Given the description of an element on the screen output the (x, y) to click on. 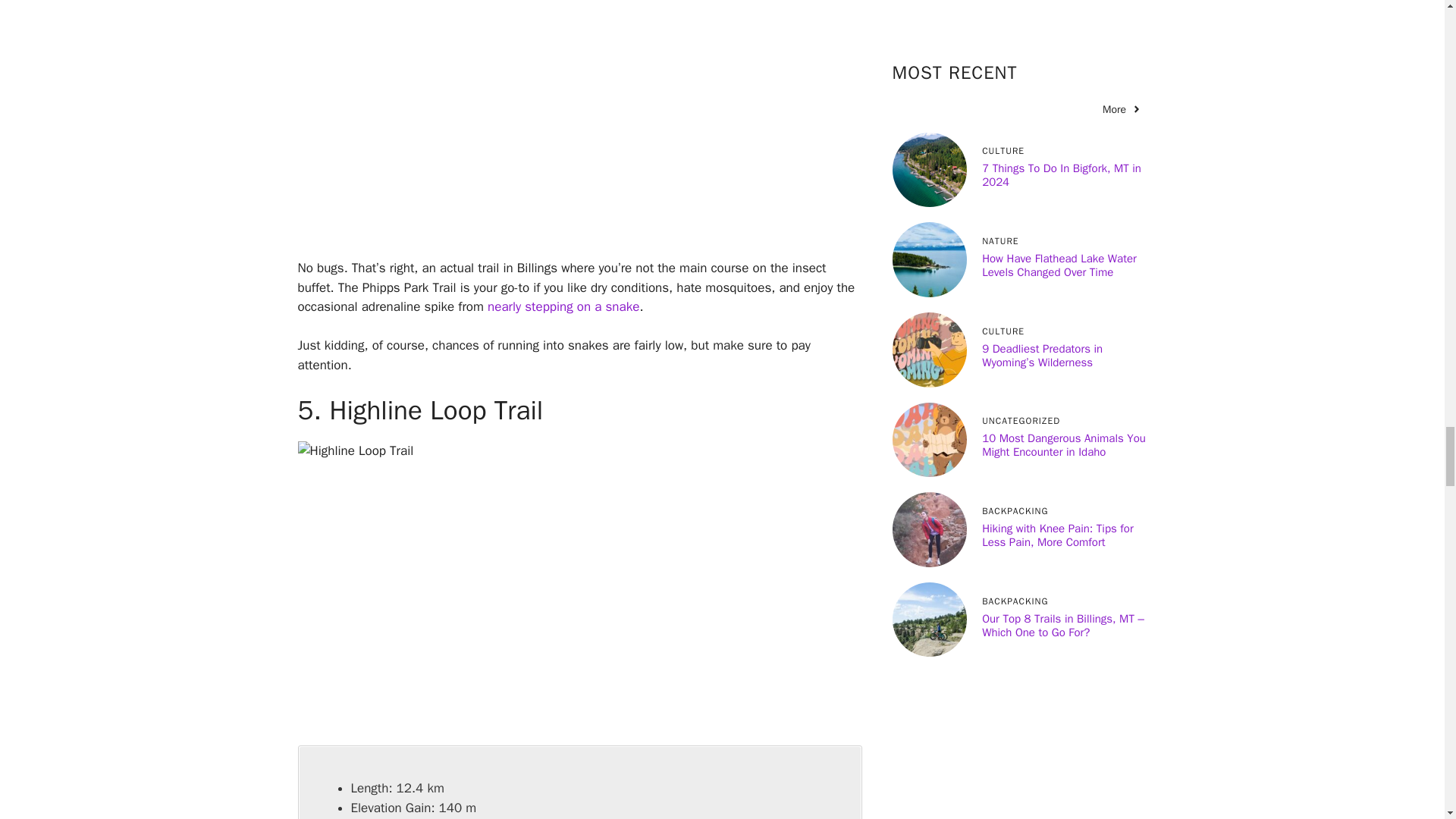
nearly stepping on a snake (563, 306)
